Given the description of an element on the screen output the (x, y) to click on. 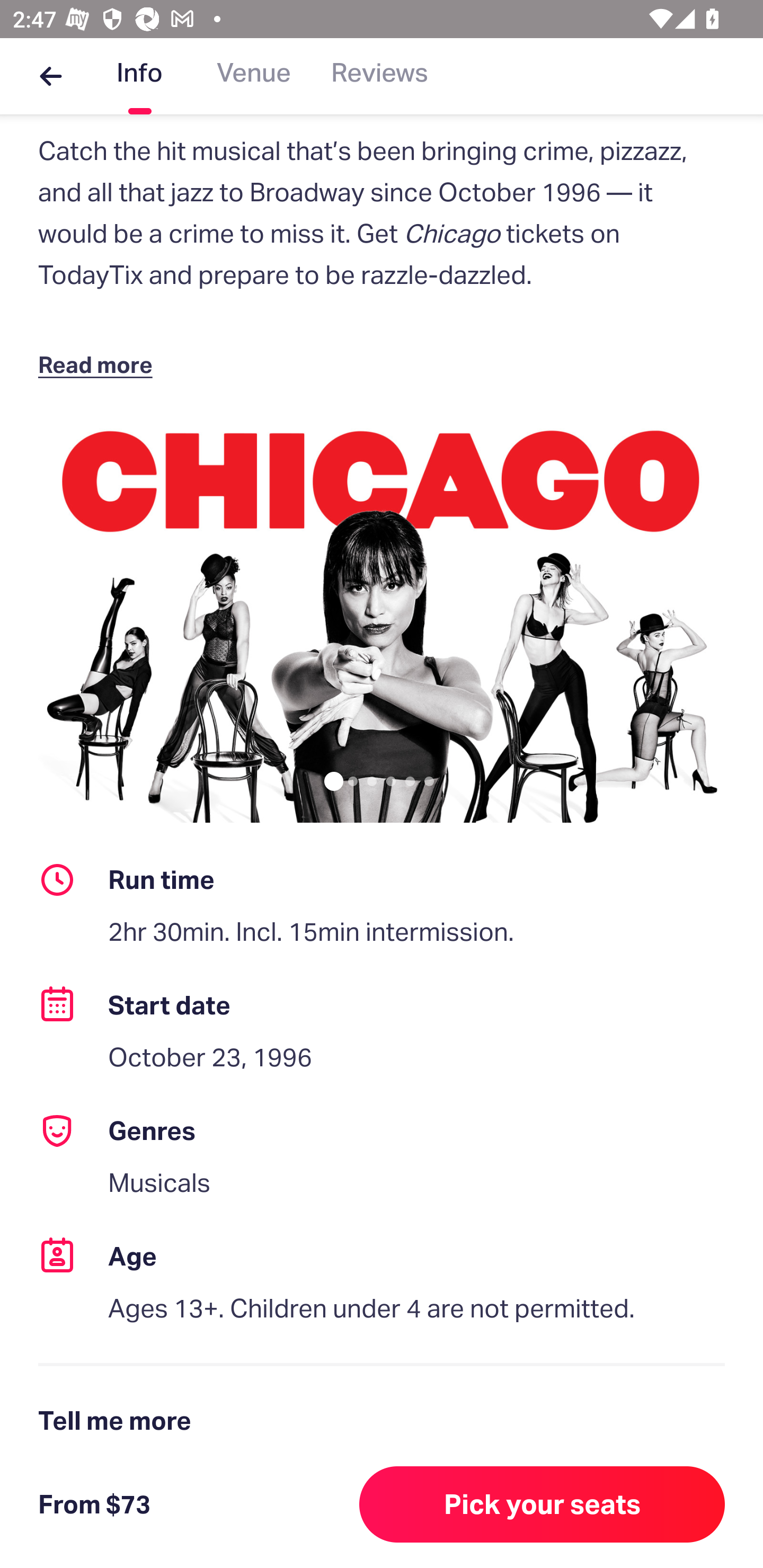
Venue (253, 75)
Reviews (379, 75)
Read more (99, 364)
Tell me more (381, 1420)
Pick your seats (541, 1504)
